Given the description of an element on the screen output the (x, y) to click on. 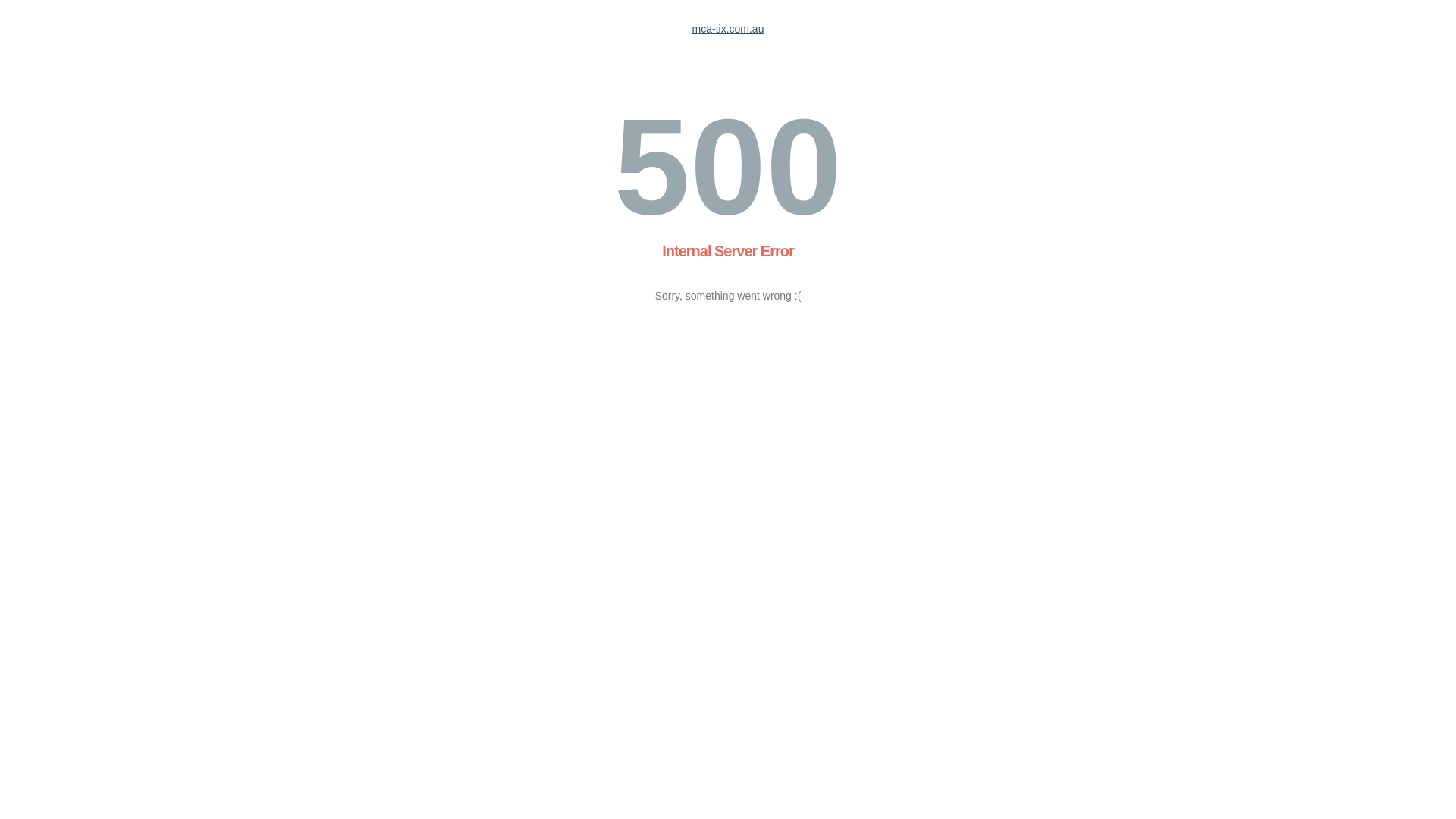
mca-tix.com.au Element type: text (728, 28)
